Given the description of an element on the screen output the (x, y) to click on. 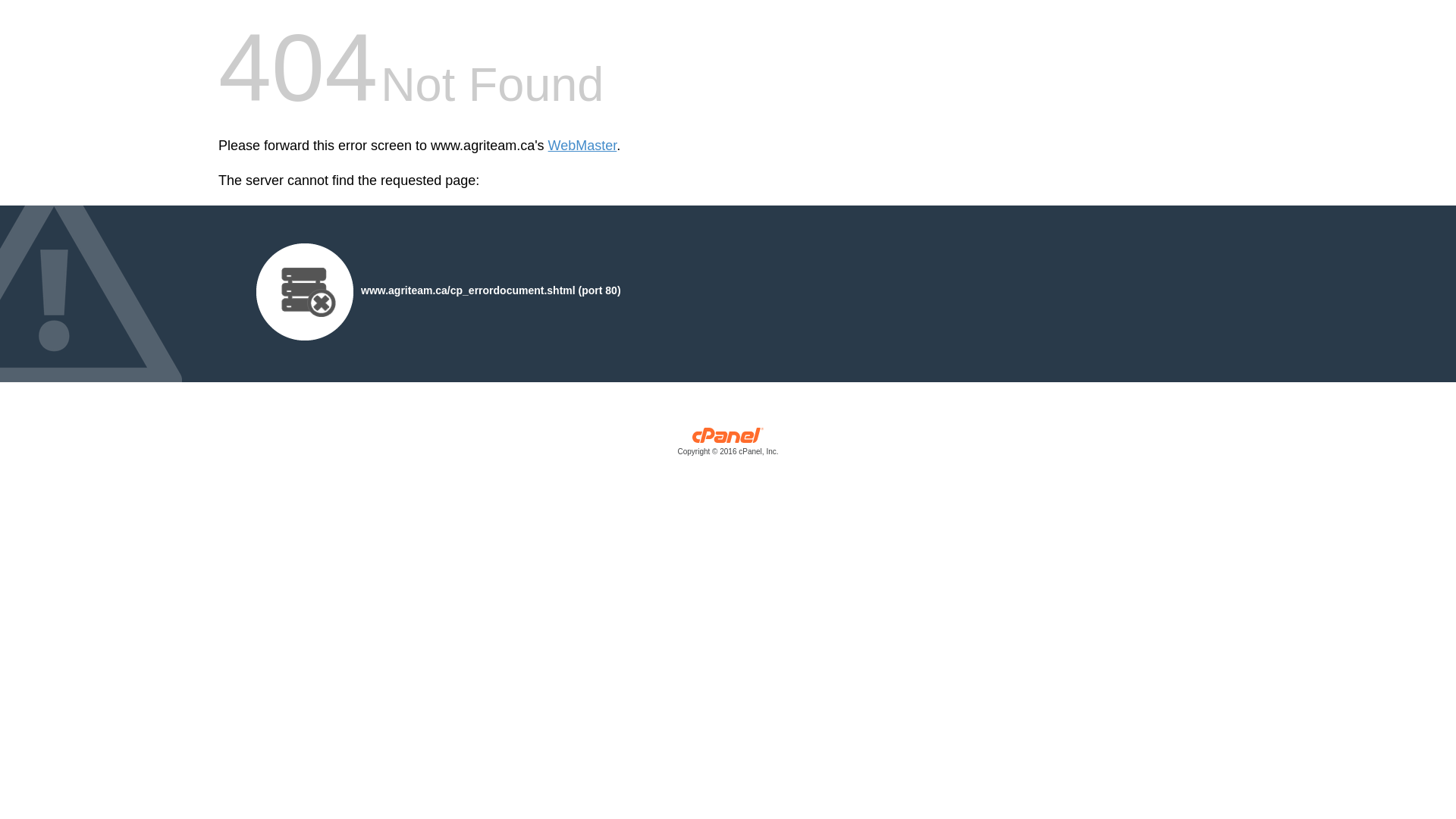
WebMaster Element type: text (582, 145)
